Given the description of an element on the screen output the (x, y) to click on. 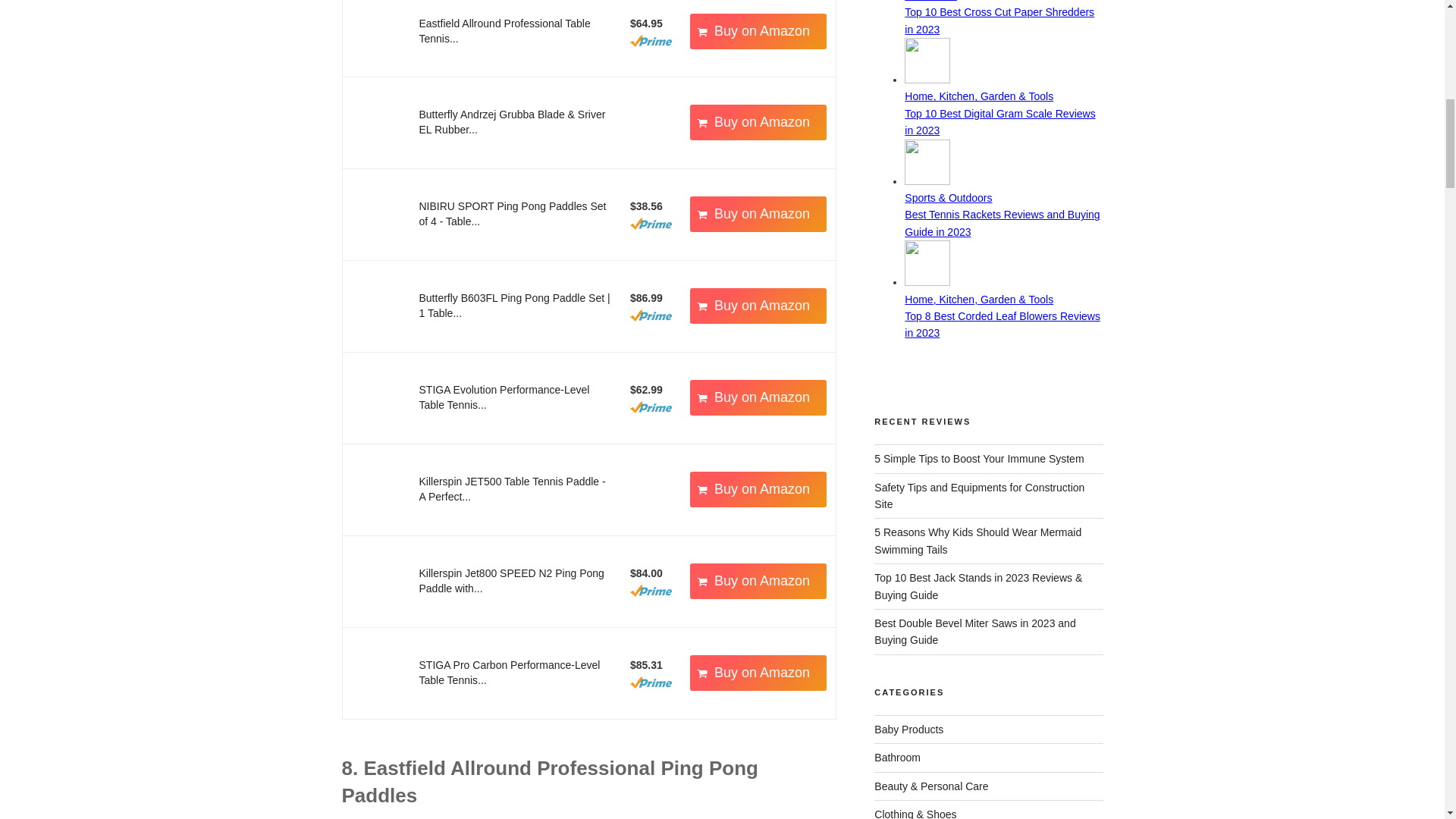
Buy on Amazon (758, 213)
STIGA Evolution Performance-Level Table Tennis... (504, 397)
Buy on Amazon (758, 305)
Eastfield Allround Professional Table Tennis... (504, 31)
Eastfield Allround Professional Table Tennis... (504, 31)
NIBIRU SPORT Ping Pong Paddles Set of 4 - Table... (512, 213)
Buy on Amazon (758, 31)
Amazon Prime (650, 40)
Buy on Amazon (758, 31)
Buy on Amazon (758, 397)
Buy on Amazon (758, 122)
